Given the description of an element on the screen output the (x, y) to click on. 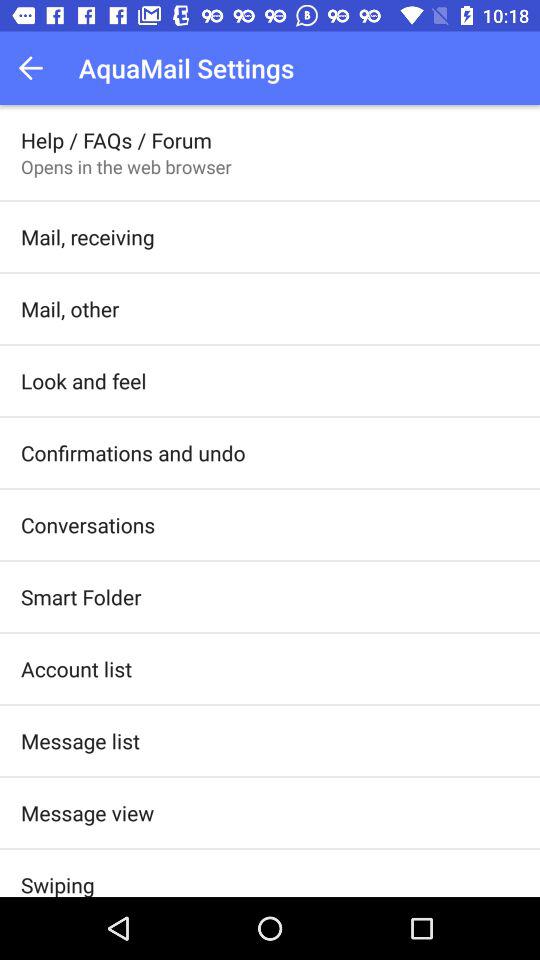
click the item above mail, receiving app (126, 166)
